Given the description of an element on the screen output the (x, y) to click on. 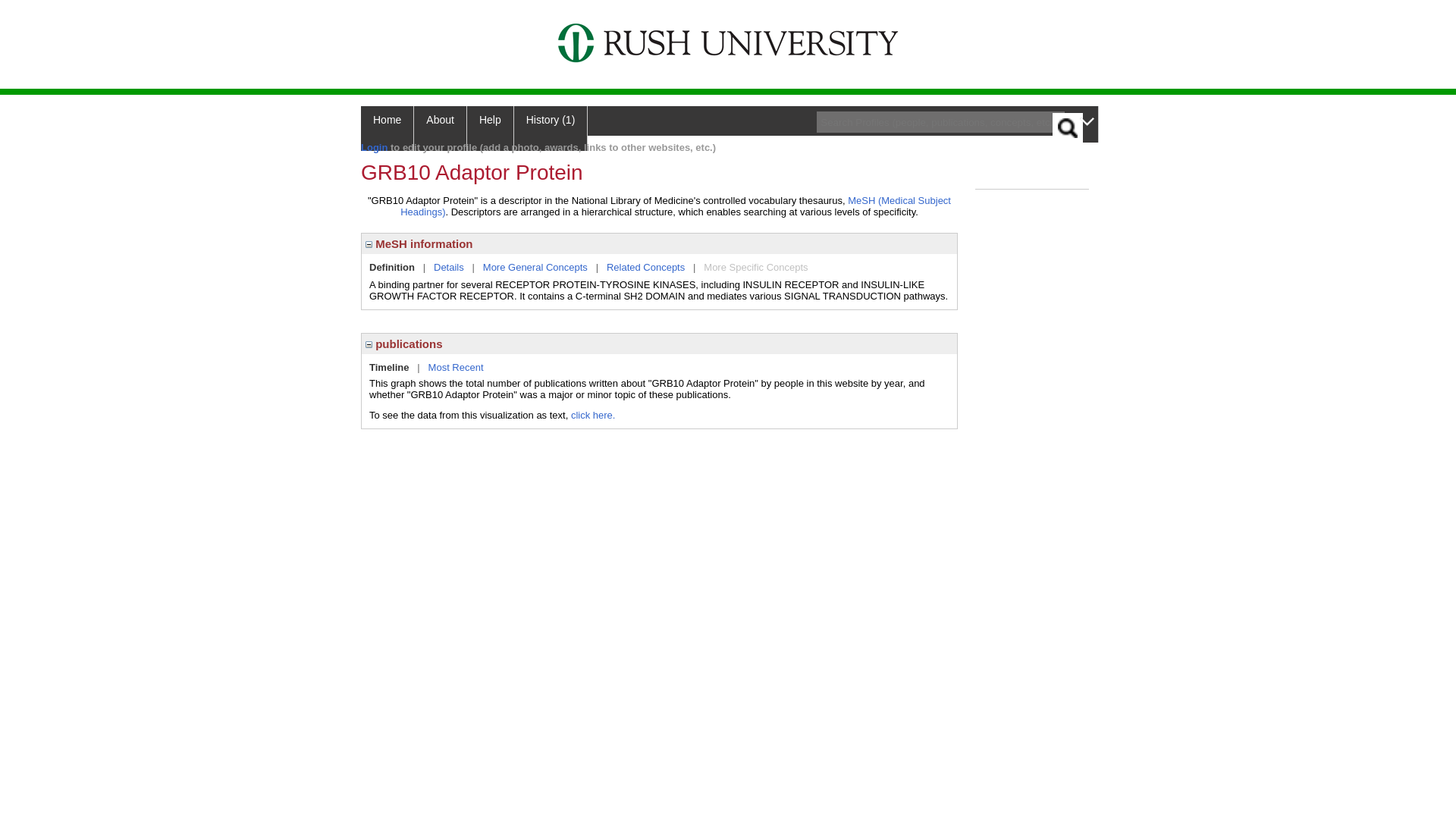
Related Concepts (645, 266)
Home (387, 128)
Definition (391, 266)
Help (490, 128)
Details (448, 266)
Login (374, 147)
About (440, 128)
More Specific Concepts (755, 266)
More General Concepts (535, 266)
